Given the description of an element on the screen output the (x, y) to click on. 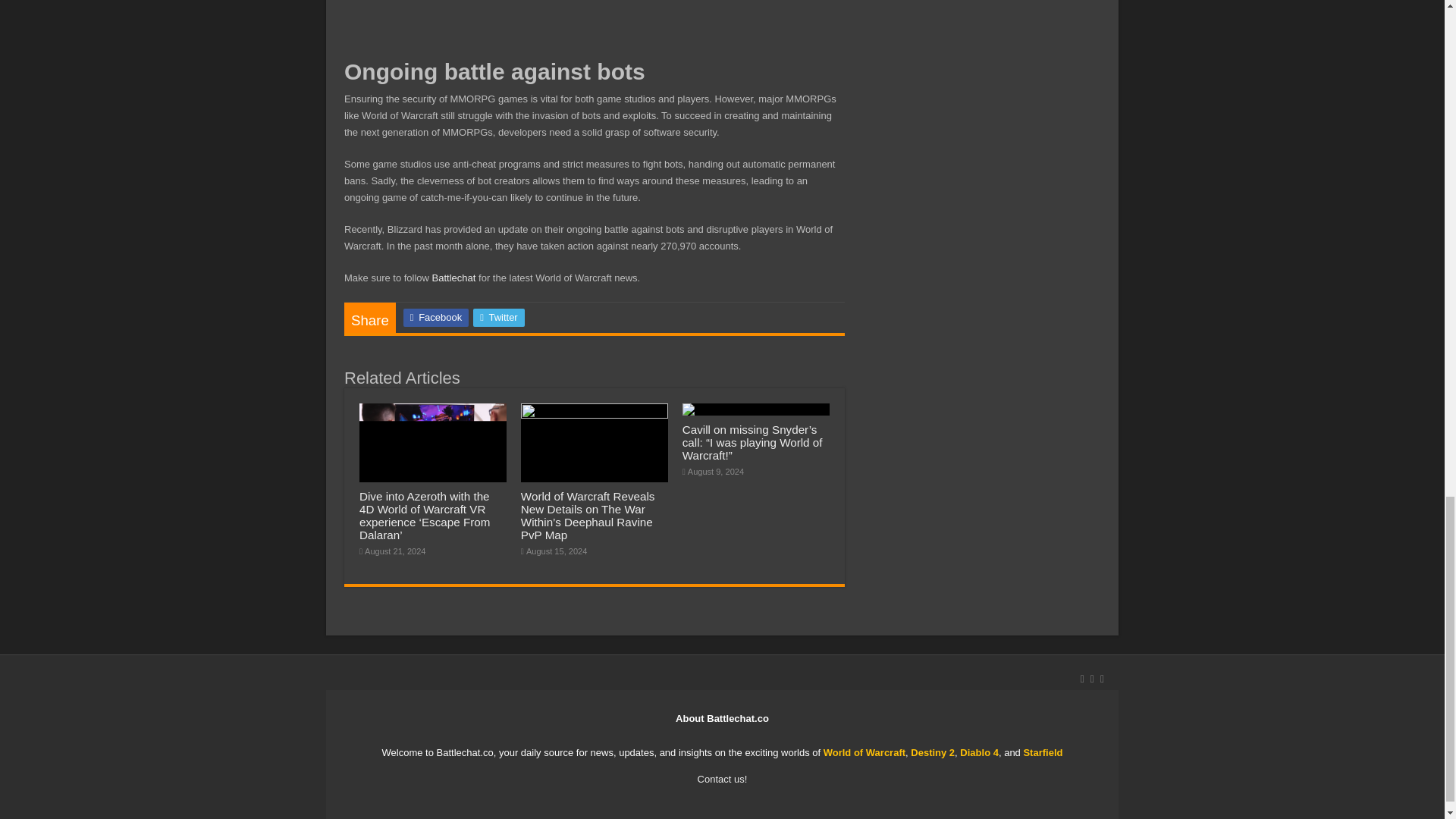
Facebook (435, 317)
Contact us! (722, 778)
Twitter (498, 317)
Battlechat (454, 277)
